Given the description of an element on the screen output the (x, y) to click on. 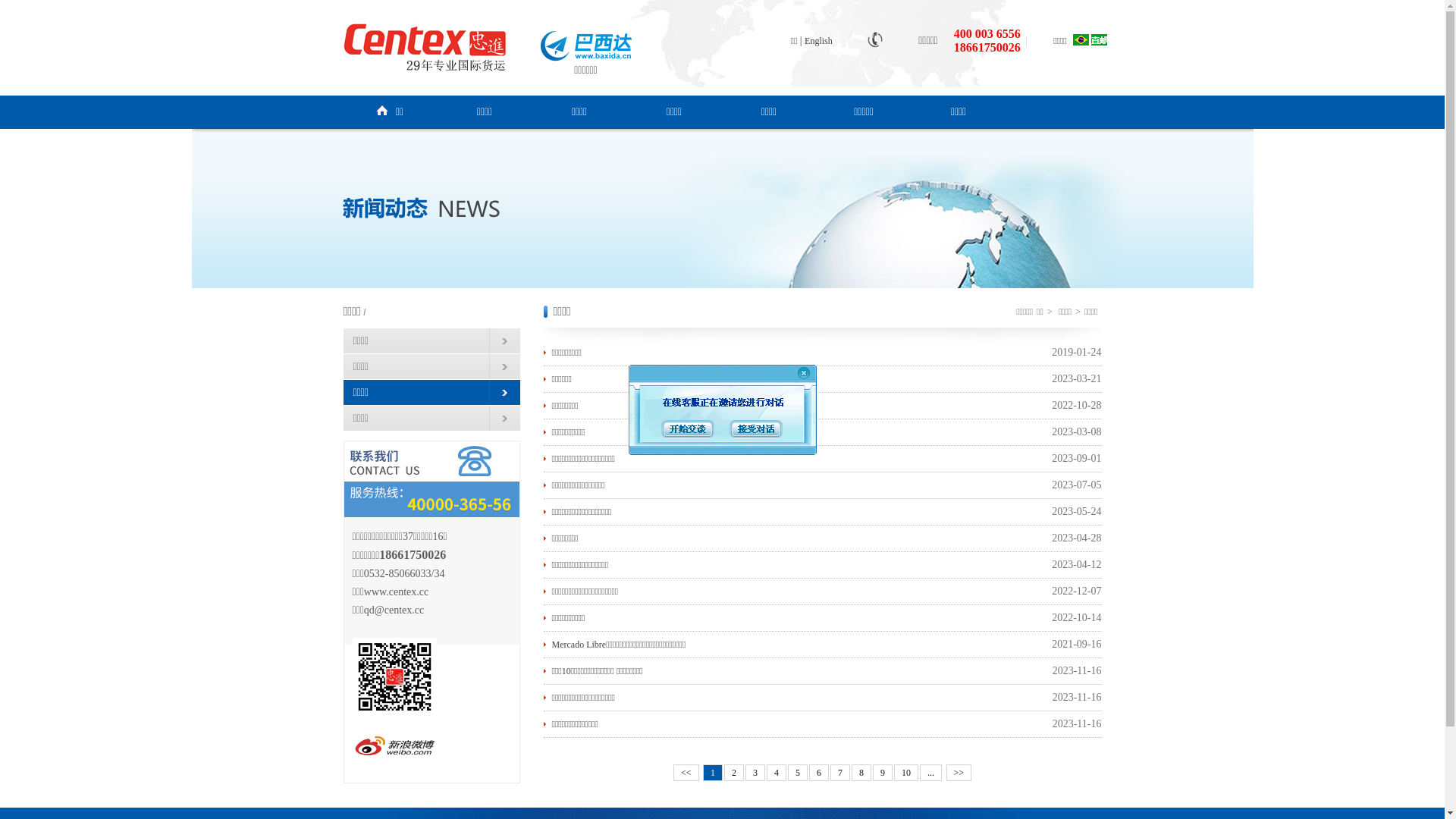
2 Element type: text (733, 772)
3 Element type: text (755, 772)
9 Element type: text (882, 772)
10 Element type: text (906, 772)
6 Element type: text (818, 772)
1 Element type: text (712, 772)
4 Element type: text (776, 772)
5 Element type: text (797, 772)
>> Element type: text (959, 772)
<< Element type: text (686, 772)
7 Element type: text (840, 772)
3.jpg Element type: hover (431, 479)
... Element type: text (930, 772)
timg (29).jpg Element type: hover (393, 746)
qrcode_for_gh_713c26d280c3_258.jpg Element type: hover (393, 676)
8 Element type: text (861, 772)
English Element type: text (818, 40)
